Given the description of an element on the screen output the (x, y) to click on. 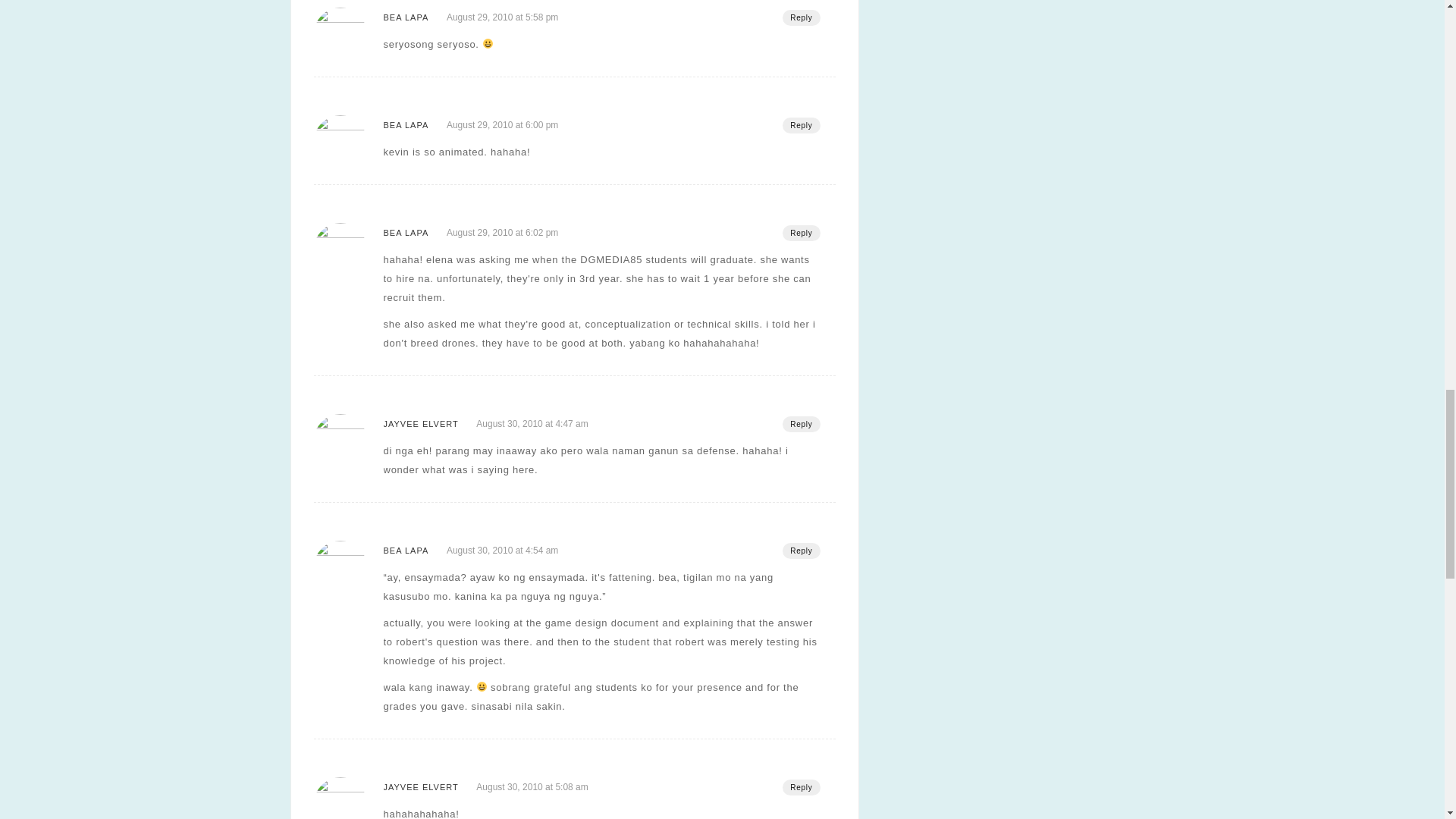
August 29, 2010 at 5:58 pm (501, 17)
BEA LAPA (406, 17)
Reply (801, 17)
BEA LAPA (406, 124)
